Given the description of an element on the screen output the (x, y) to click on. 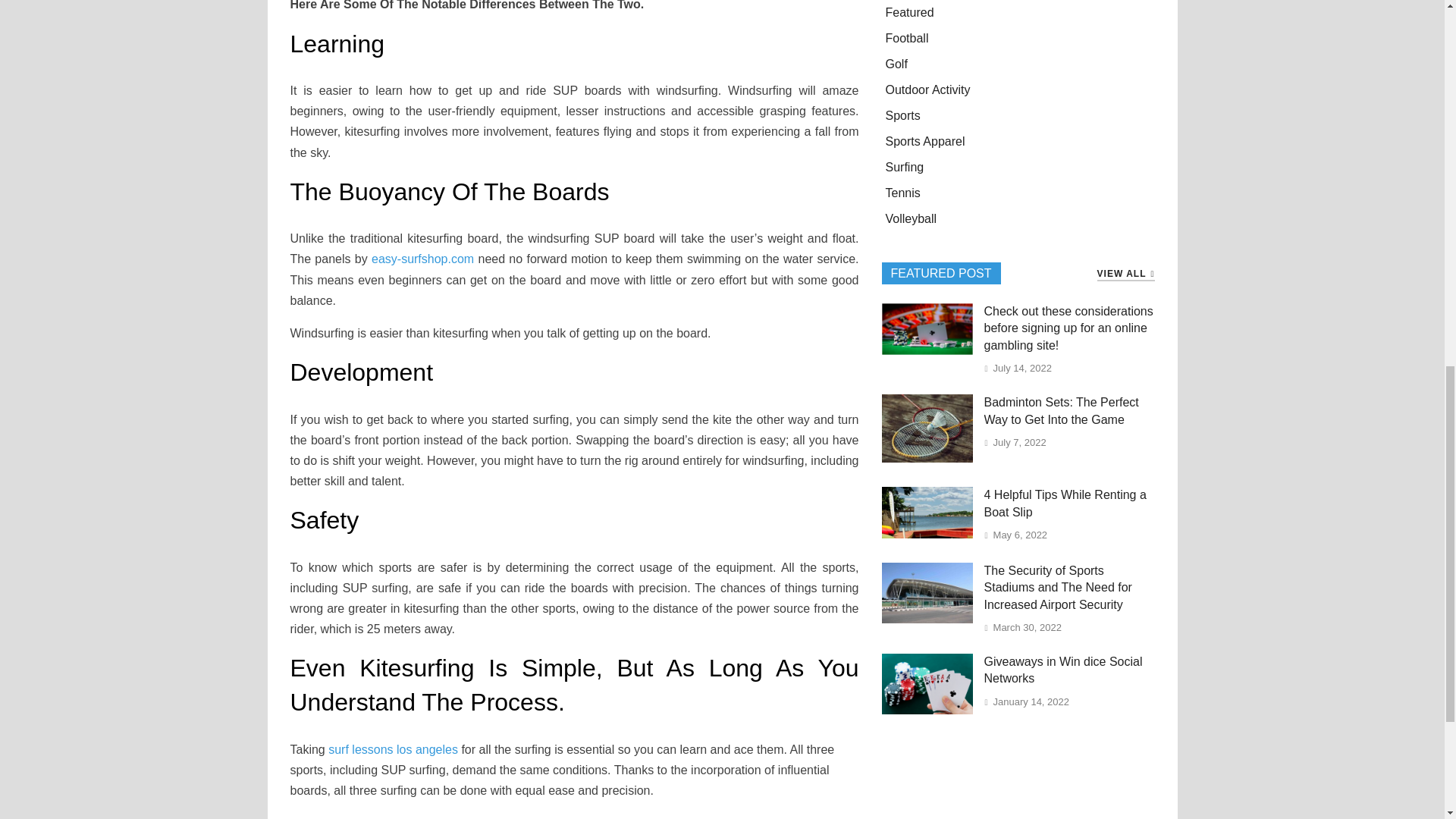
Badminton Sets: The Perfect Way to Get Into the Game (927, 458)
Giveaways in Win dice Social Networks (927, 709)
4 Helpful Tips While Renting a Boat Slip (927, 533)
easy-surfshop.com (422, 258)
surf lessons los angeles (393, 748)
